Given the description of an element on the screen output the (x, y) to click on. 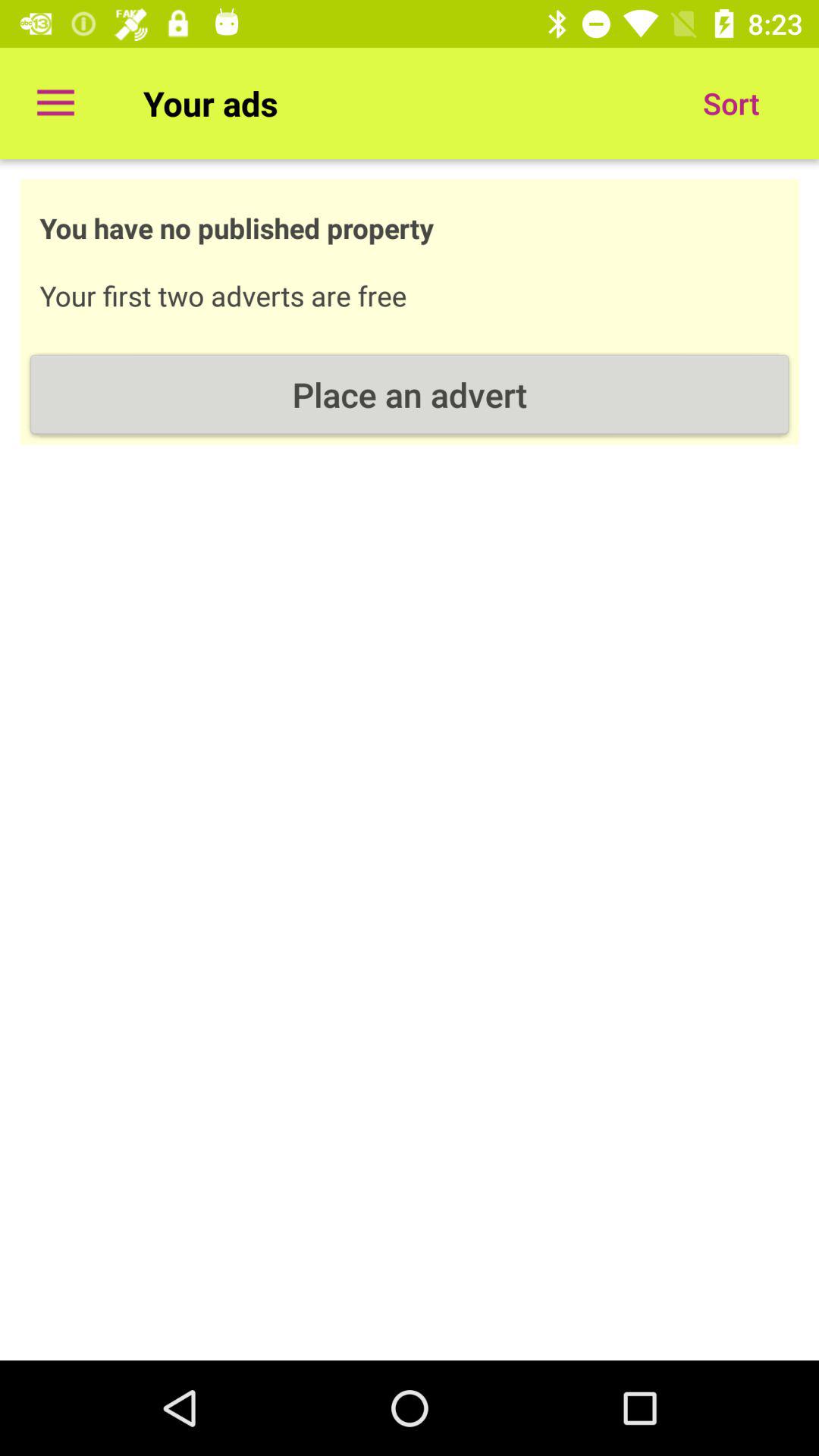
choose the item next to your ads item (731, 103)
